Given the description of an element on the screen output the (x, y) to click on. 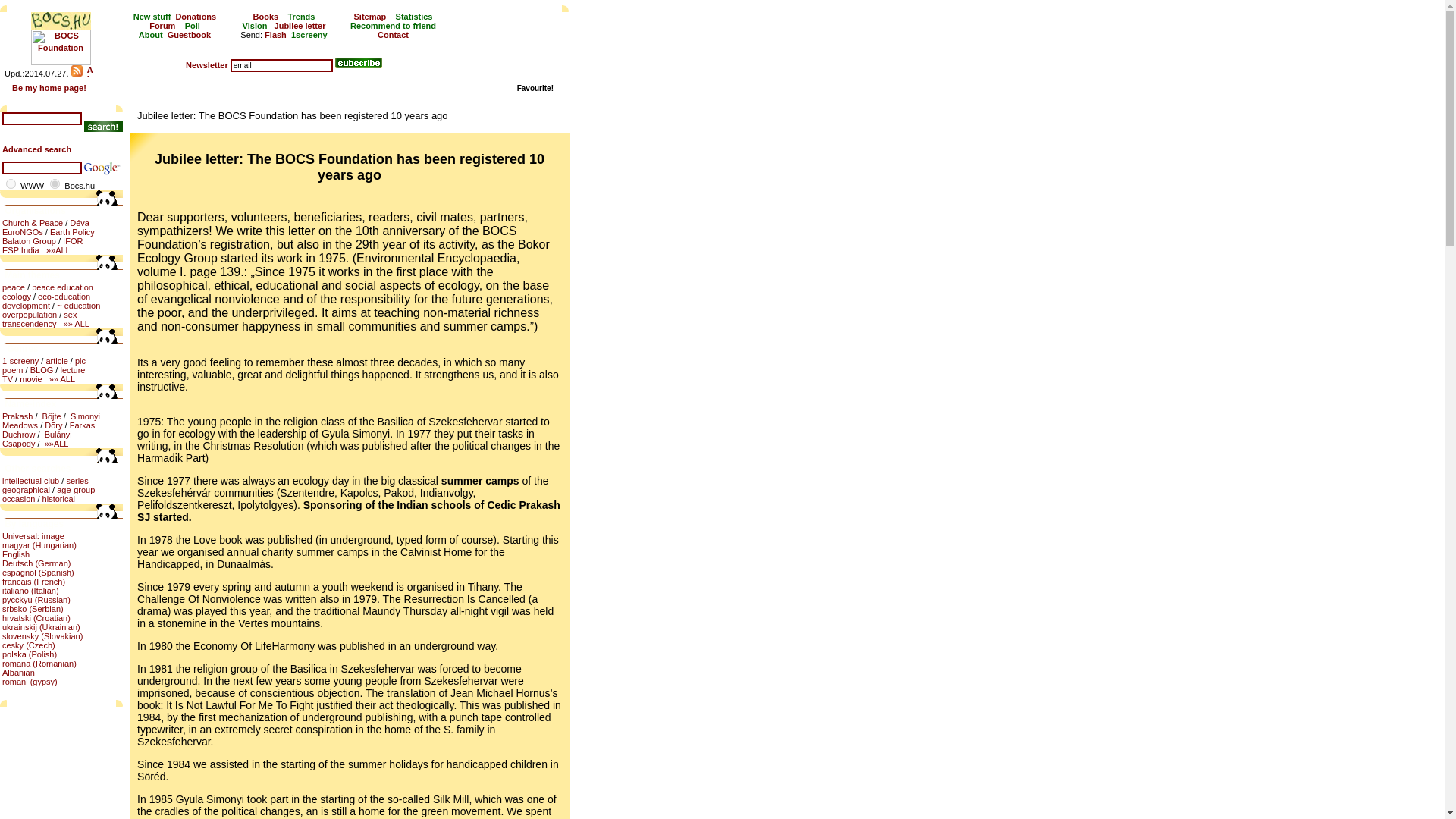
Favourite! (534, 88)
Statistics (414, 16)
Jubilee letter (300, 25)
1screeny (309, 34)
Forum (161, 25)
Donations (194, 16)
Balaton Group (29, 240)
Vision (255, 25)
Earth Policy (71, 231)
peace (13, 286)
Google Search (100, 167)
IFOR (72, 240)
Trends (300, 16)
Poll (192, 25)
New stuff (152, 16)
